Given the description of an element on the screen output the (x, y) to click on. 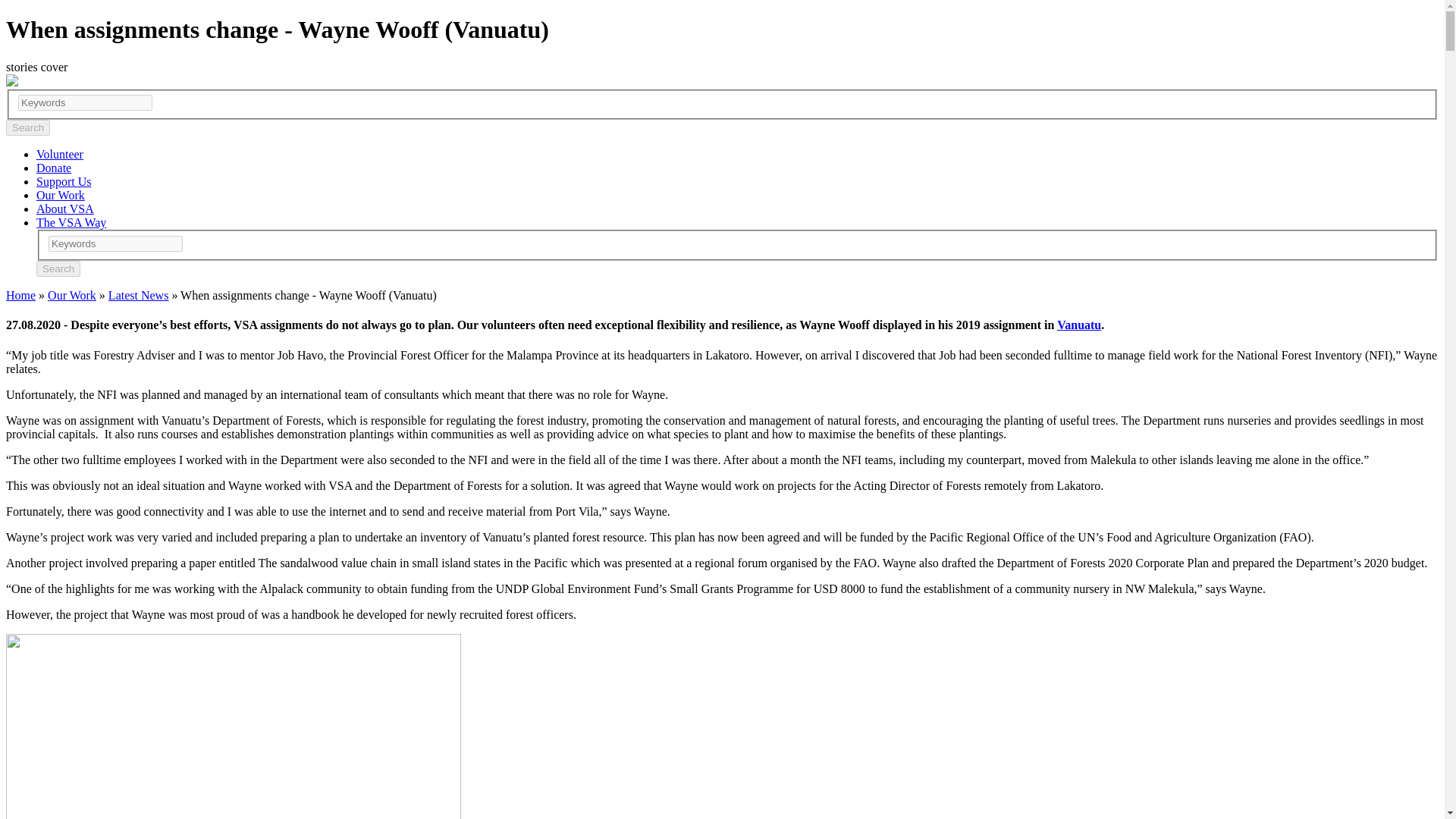
The VSA Way (71, 222)
Volunteer (59, 154)
Our Work (60, 195)
Our Work (72, 295)
About VSA (65, 208)
20191007 142510 (233, 726)
Donate (53, 167)
Support Us (63, 181)
Search (58, 268)
Latest News (137, 295)
